Given the description of an element on the screen output the (x, y) to click on. 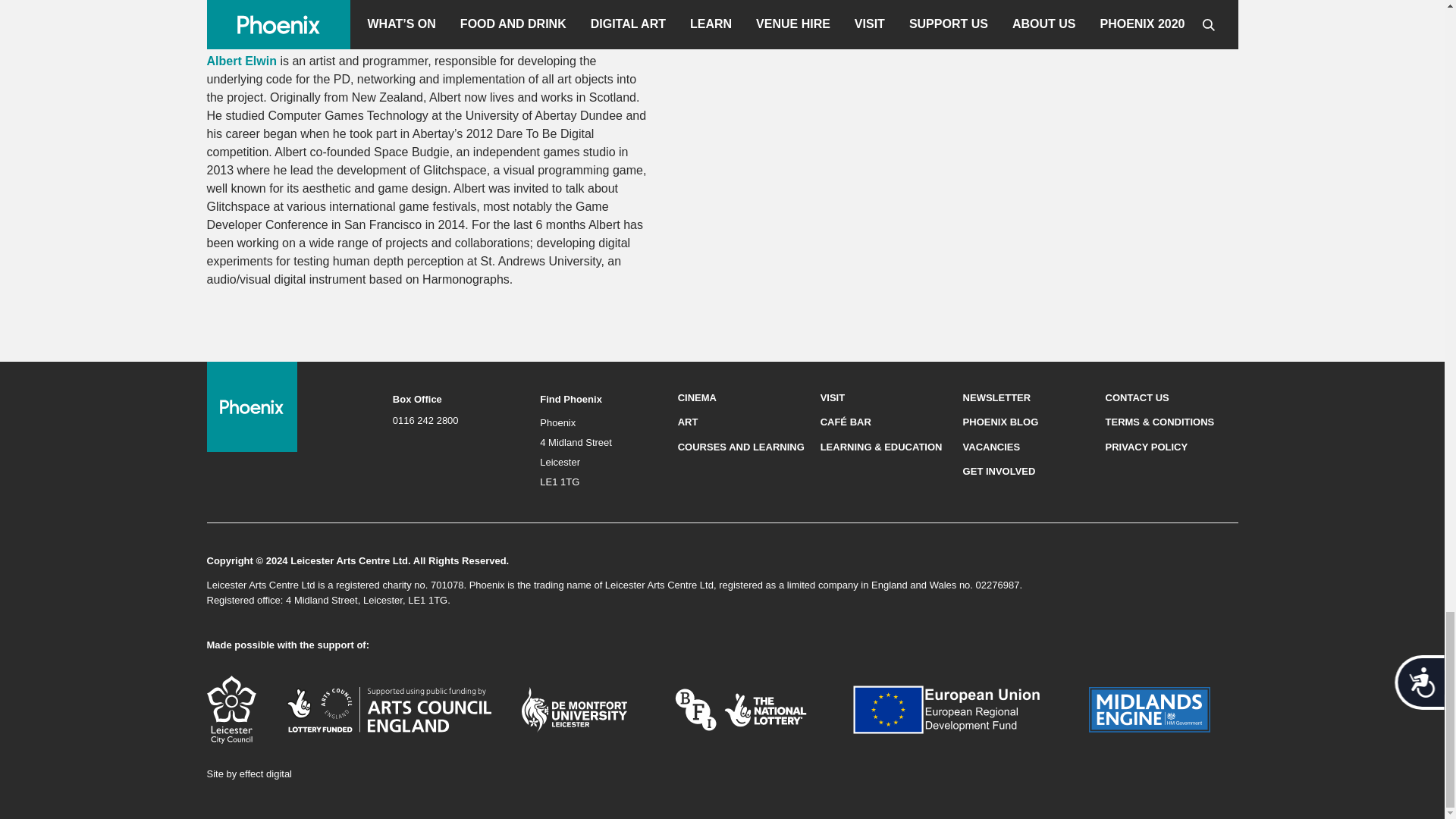
View Leicester City Council  website (231, 708)
View De Montfort University website (574, 708)
View BFI website (740, 708)
View European Union website (955, 708)
View Midlands Engine website (1149, 708)
View Arts Council website (389, 708)
